Given the description of an element on the screen output the (x, y) to click on. 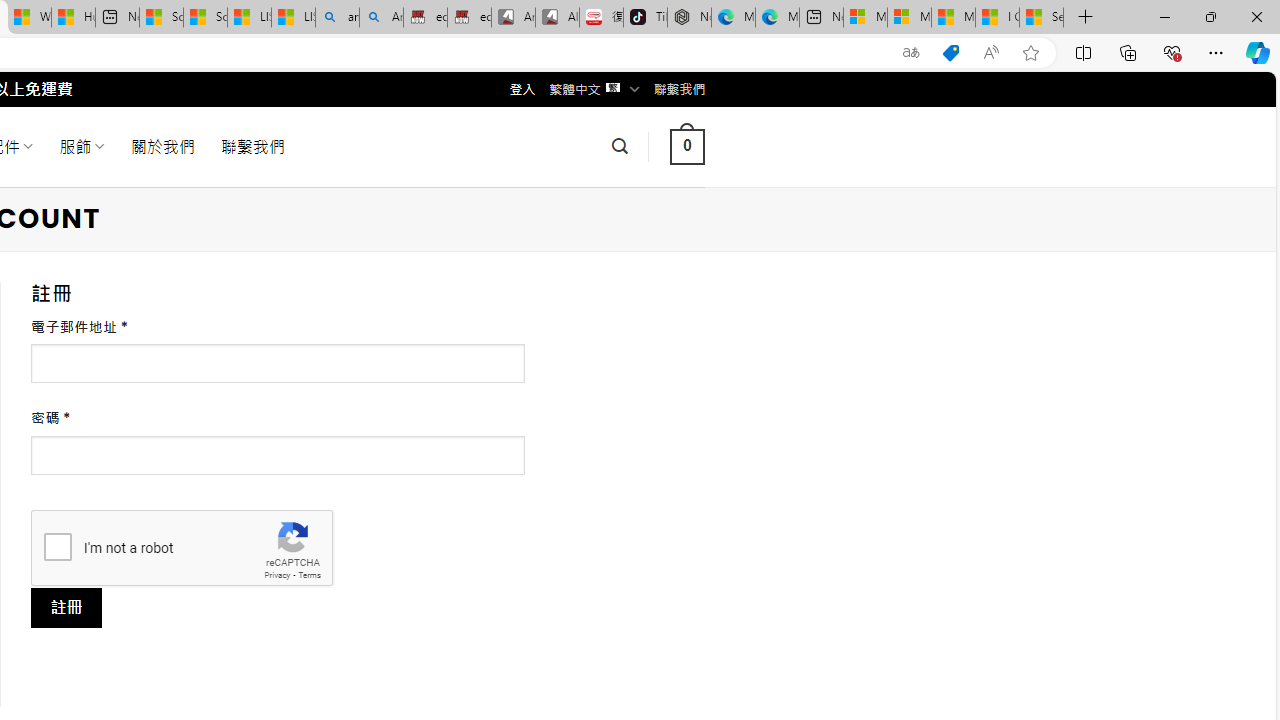
TikTok (644, 17)
Microsoft account | Privacy (909, 17)
Terms (309, 575)
I'm not a robot (57, 546)
I Gained 20 Pounds of Muscle in 30 Days! | Watch (996, 17)
